Given the description of an element on the screen output the (x, y) to click on. 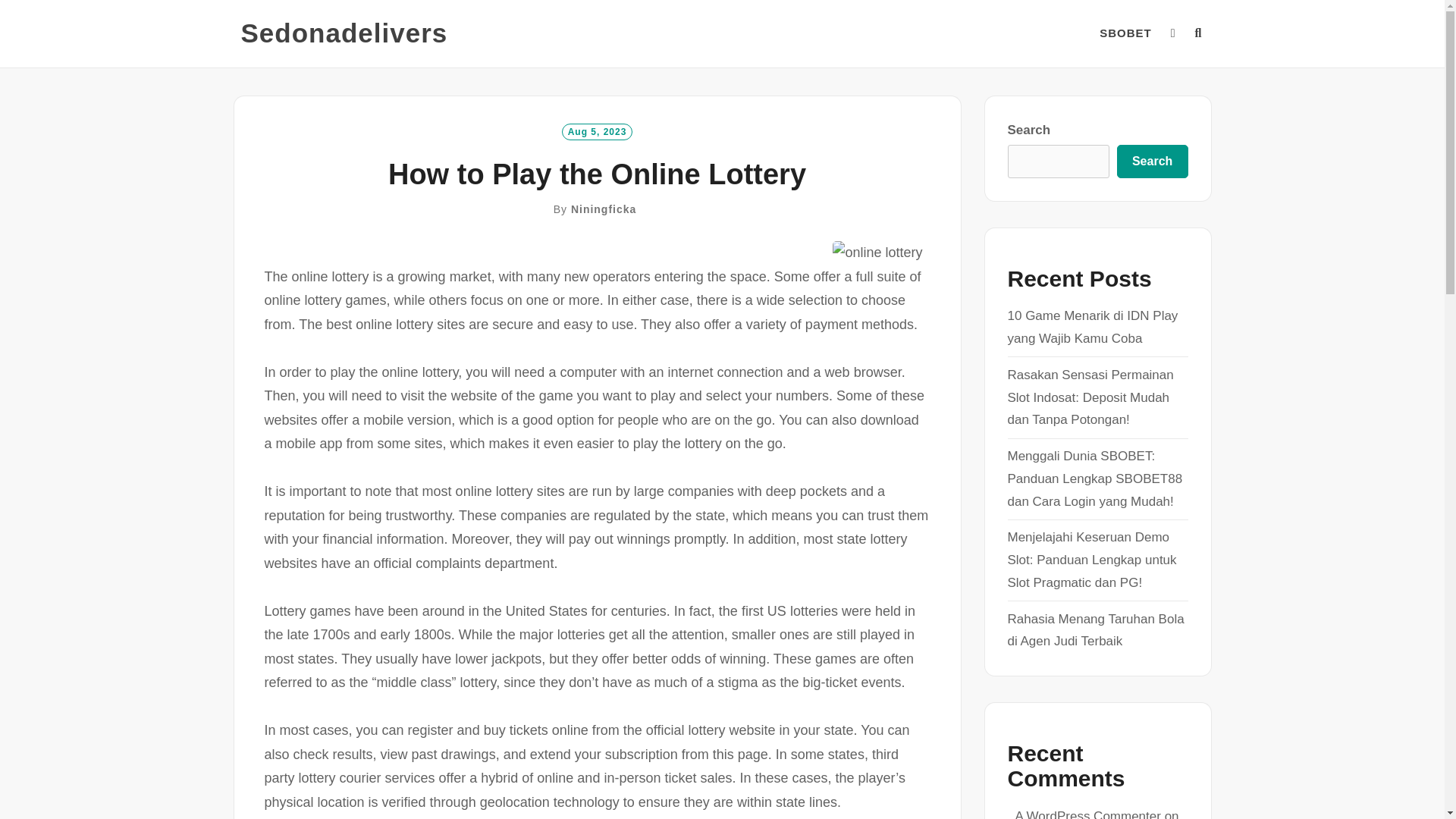
Aug 5, 2023 (597, 130)
10 Game Menarik di IDN Play yang Wajib Kamu Coba (1092, 326)
Niningficka (603, 209)
Search (1152, 161)
Sedonadelivers (344, 33)
A WordPress Commenter (1087, 814)
Rahasia Menang Taruhan Bola di Agen Judi Terbaik (1095, 630)
